Given the description of an element on the screen output the (x, y) to click on. 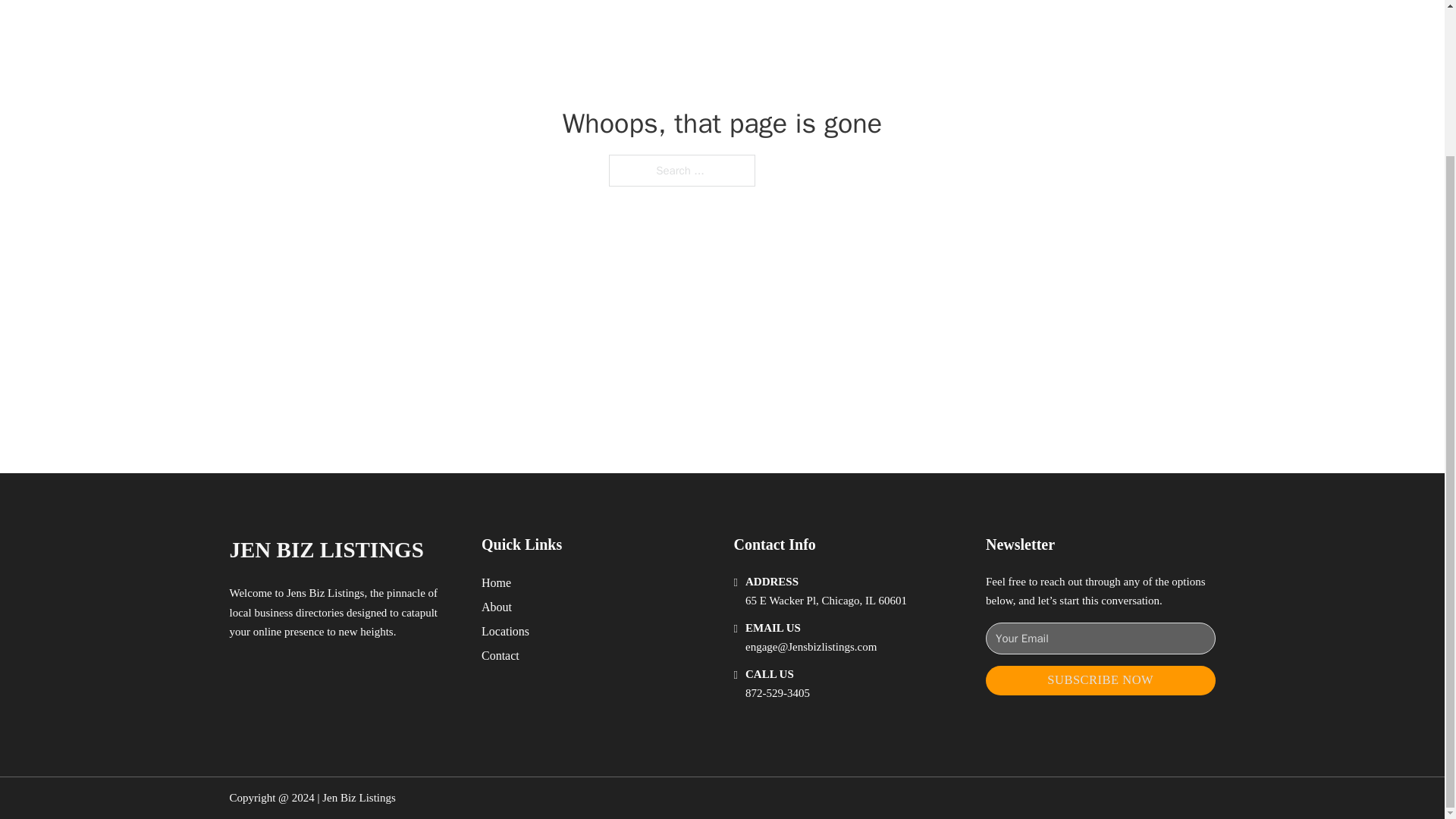
Locations (505, 630)
JEN BIZ LISTINGS (325, 549)
Home (496, 582)
About (496, 607)
Contact (500, 655)
SUBSCRIBE NOW (1100, 680)
872-529-3405 (777, 693)
